Given the description of an element on the screen output the (x, y) to click on. 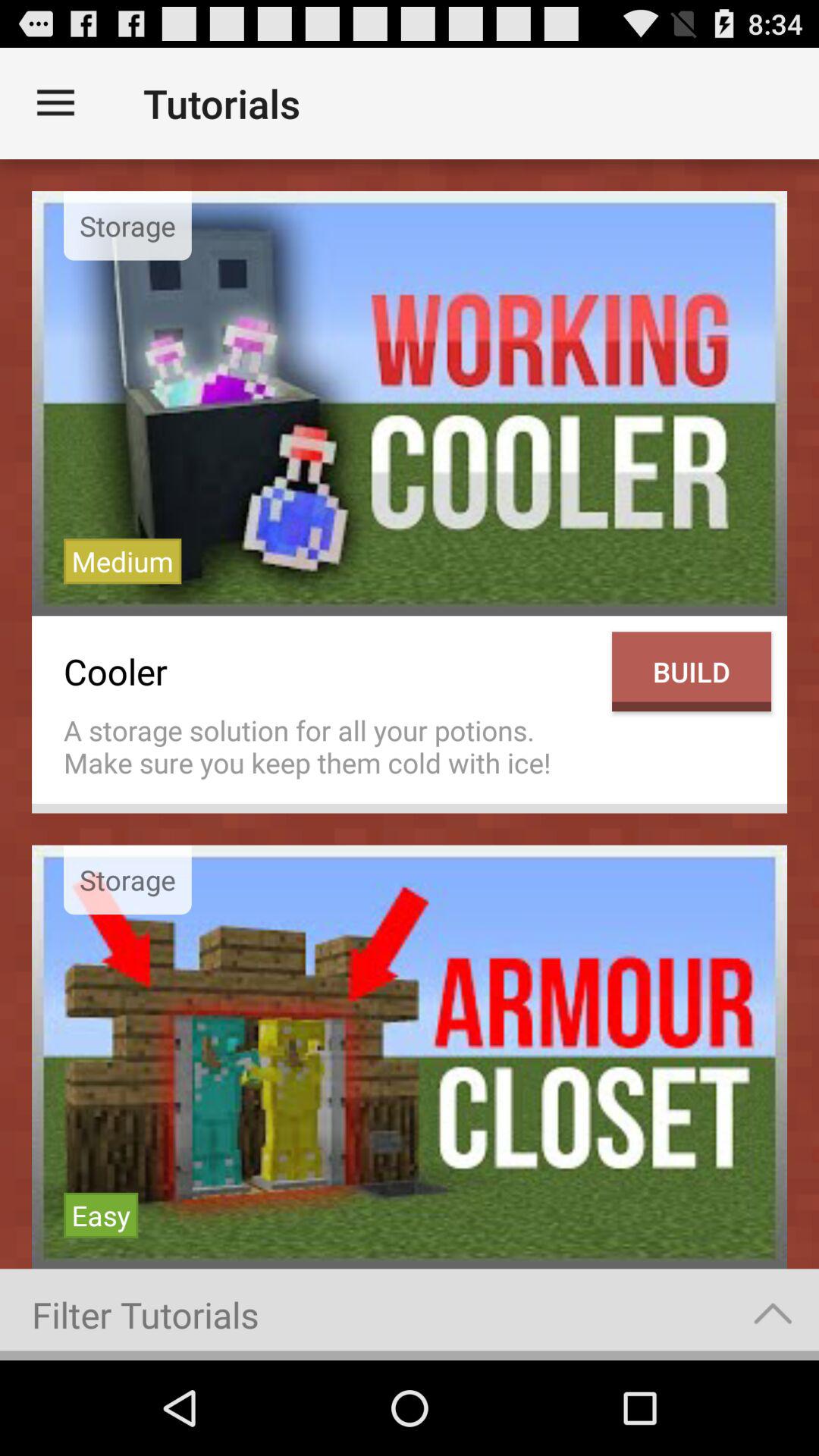
select icon to the left of build icon (329, 746)
